Given the description of an element on the screen output the (x, y) to click on. 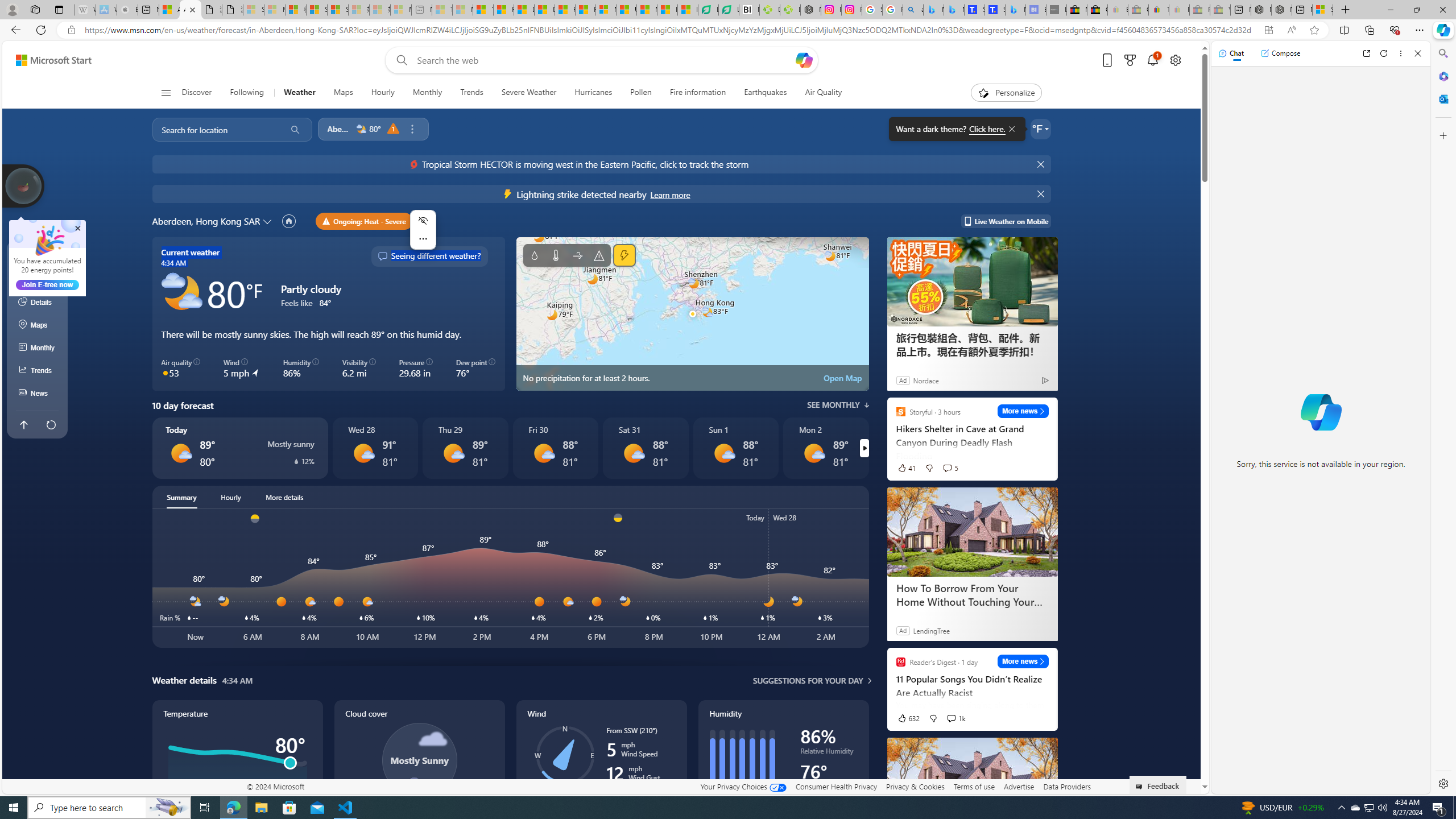
Seeing different weather? (429, 256)
Threats and offensive language policy | eBay (1158, 9)
Top Stories - MSN - Sleeping (441, 9)
Data Providers (1066, 786)
Search for location (215, 128)
